Given the description of an element on the screen output the (x, y) to click on. 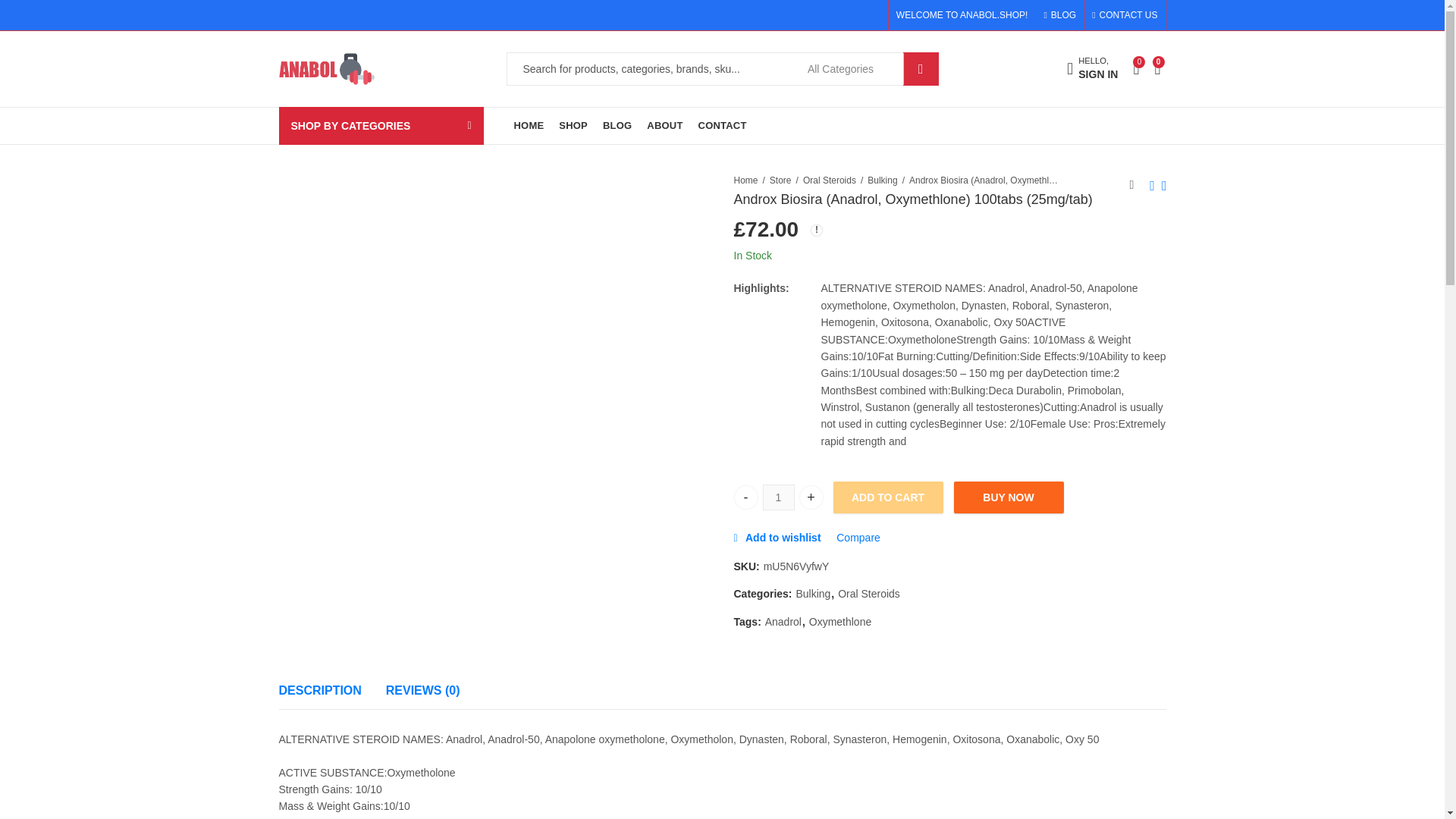
ABOUT (664, 125)
0 (1160, 68)
SEARCH (920, 68)
Qty (778, 497)
1 (778, 497)
BLOG (1092, 69)
- (1063, 15)
HOME (745, 497)
BLOG (528, 125)
CONTACT US (617, 125)
0 (1120, 15)
SHOP (1135, 68)
CONTACT (573, 125)
